Given the description of an element on the screen output the (x, y) to click on. 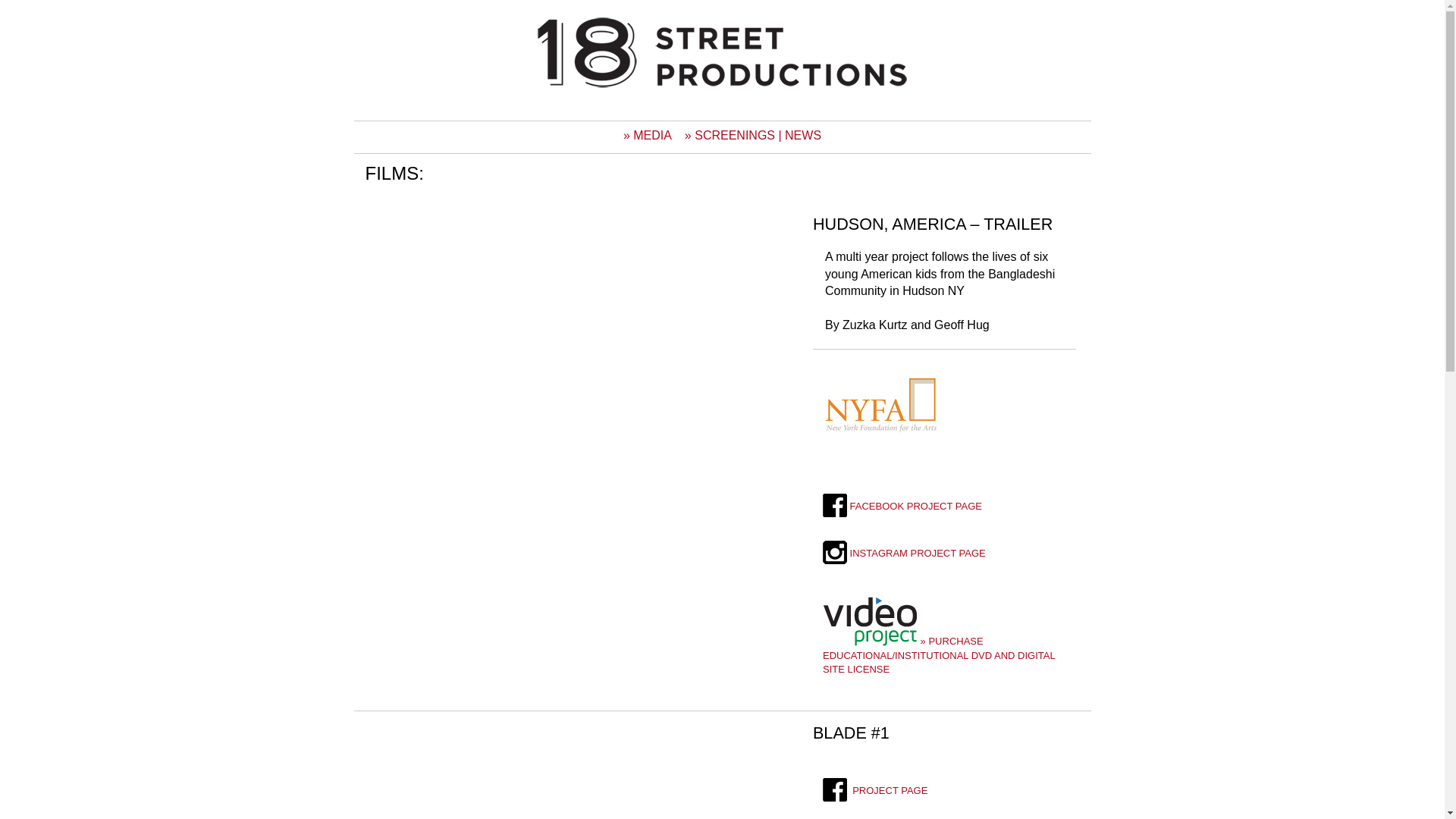
FACEBOOK PROJECT PAGE Element type: text (902, 505)
vimeo-player Element type: hover (558, 317)
INSTAGRAM PROJECT PAGE Element type: text (903, 552)
 PROJECT PAGE Element type: text (874, 790)
